Given the description of an element on the screen output the (x, y) to click on. 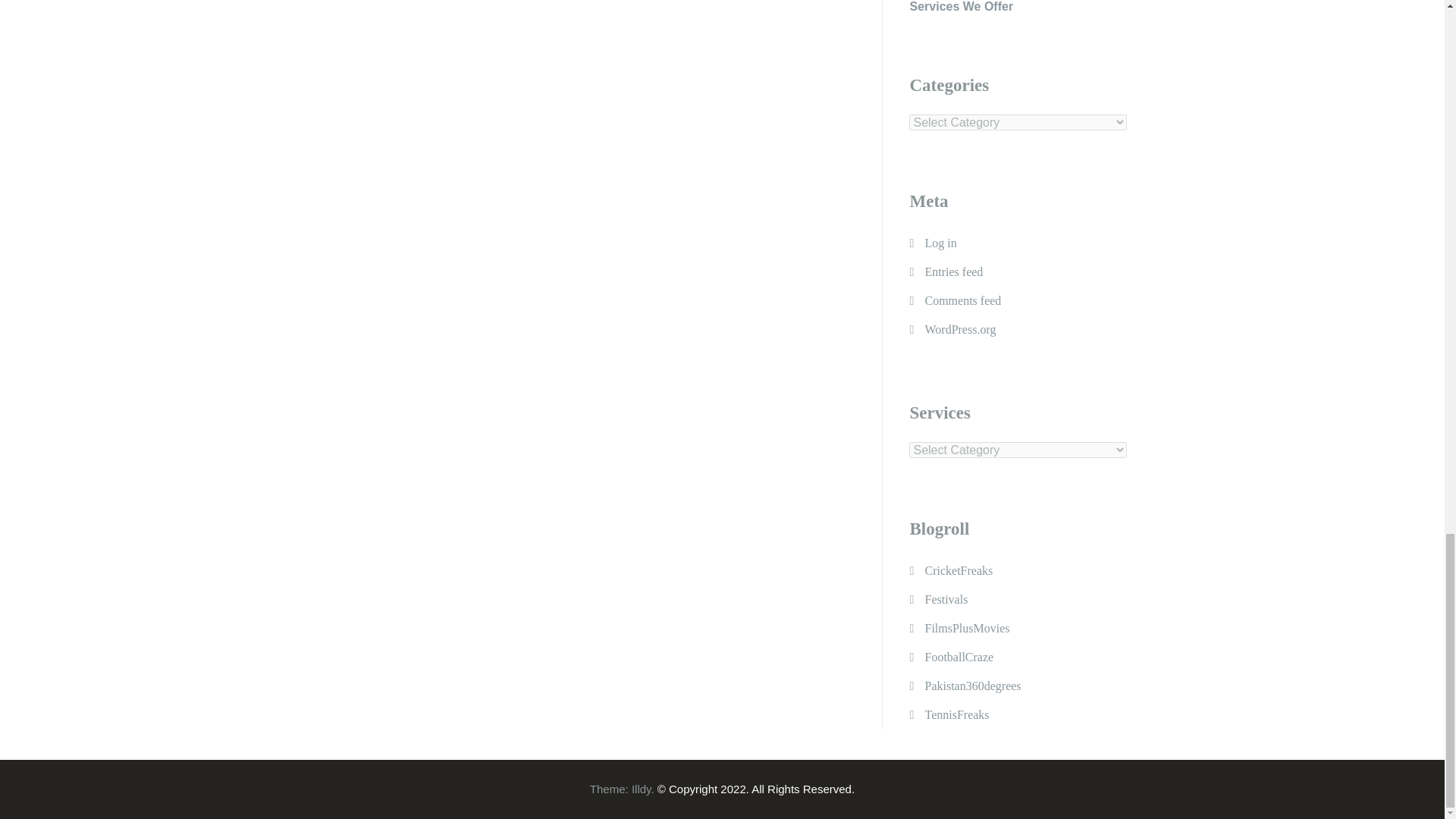
Illdy (640, 788)
